Given the description of an element on the screen output the (x, y) to click on. 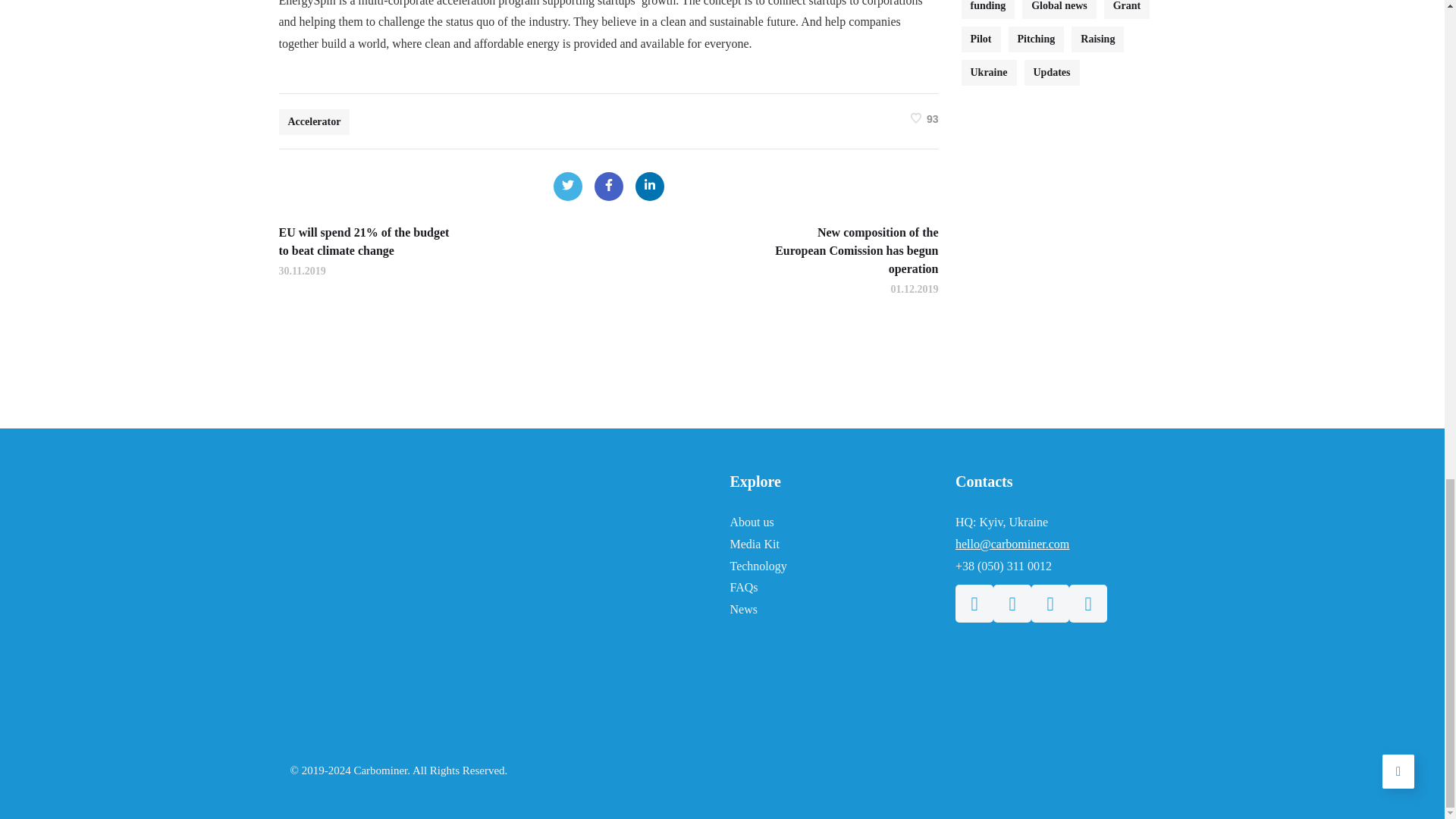
LinkedIn (648, 185)
Accelerator (314, 121)
Facebook (608, 185)
Twitter (567, 185)
Like (925, 117)
